Given the description of an element on the screen output the (x, y) to click on. 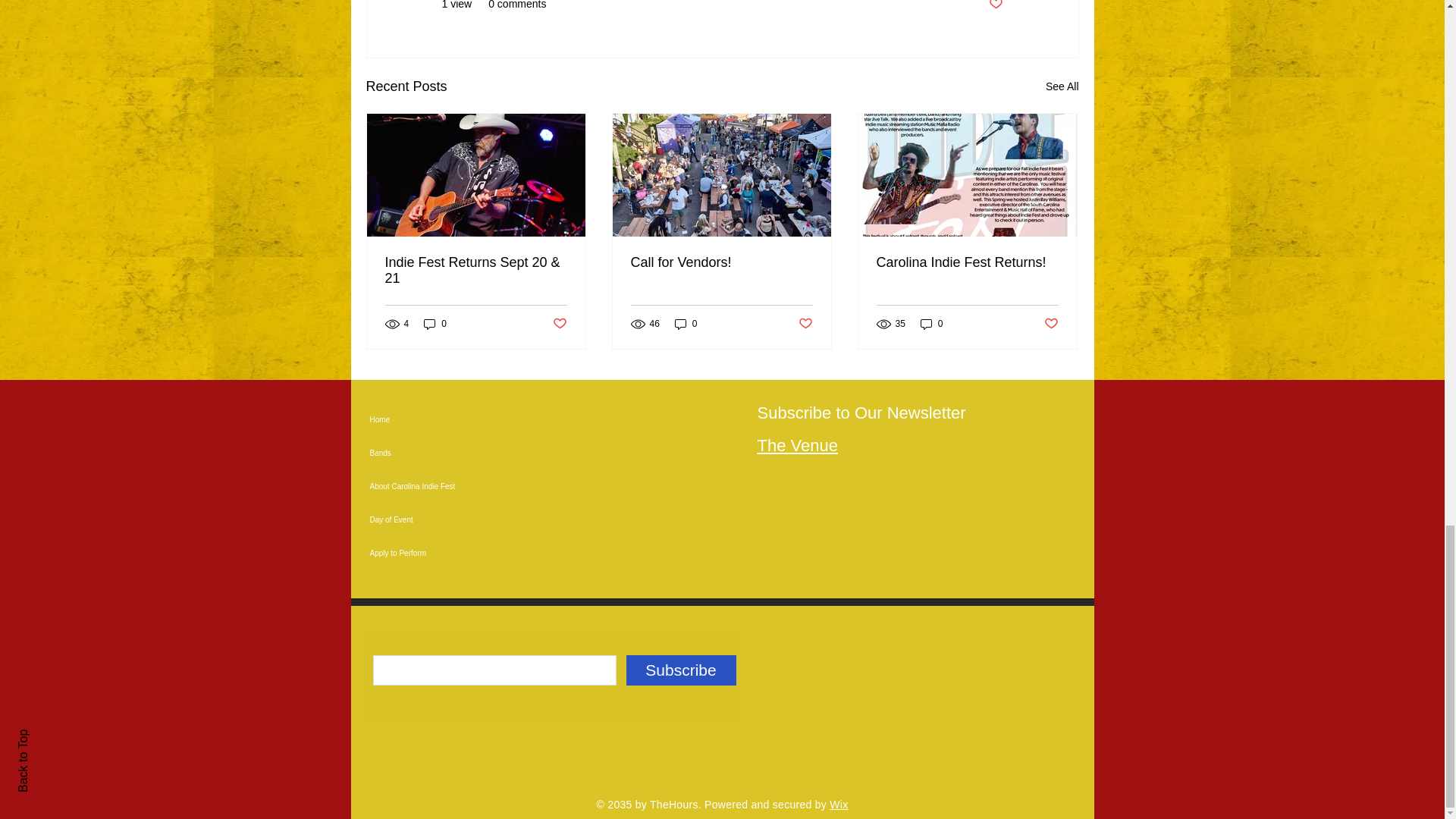
Post not marked as liked (995, 6)
About Carolina Indie Fest (476, 486)
0 (685, 323)
Carolina Indie Fest Returns! (967, 262)
The Venue (797, 445)
Subscribe (681, 670)
Apply to Perform (476, 553)
0 (931, 323)
Home (476, 419)
Call for Vendors! (721, 262)
